Given the description of an element on the screen output the (x, y) to click on. 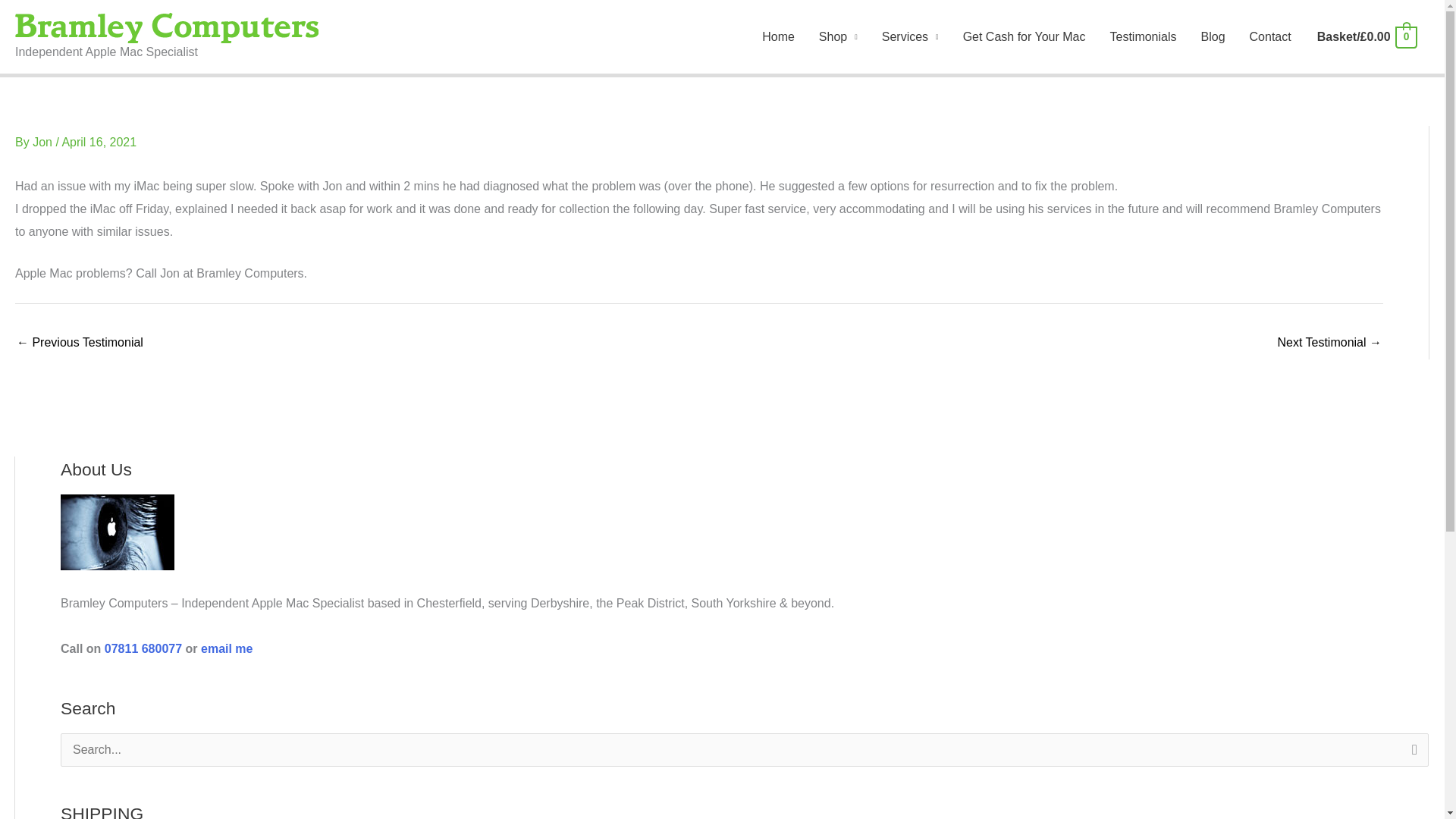
Testimonials (1142, 36)
Services (909, 36)
Contact (1270, 36)
07811 680077 (143, 648)
email me (225, 648)
Jon (43, 141)
View all posts by Jon (43, 141)
Get Cash for Your Mac (1023, 36)
